Given the description of an element on the screen output the (x, y) to click on. 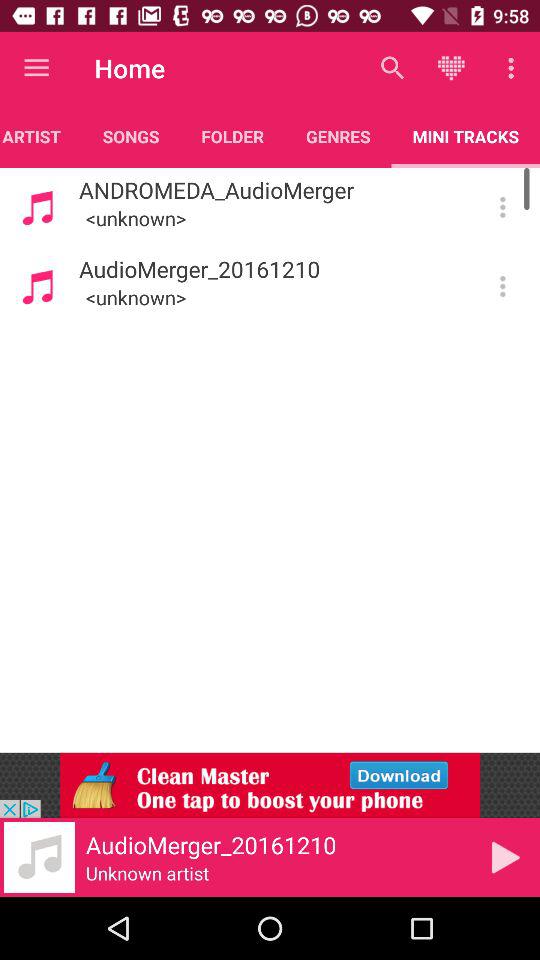
switch autoplay option (502, 286)
